Given the description of an element on the screen output the (x, y) to click on. 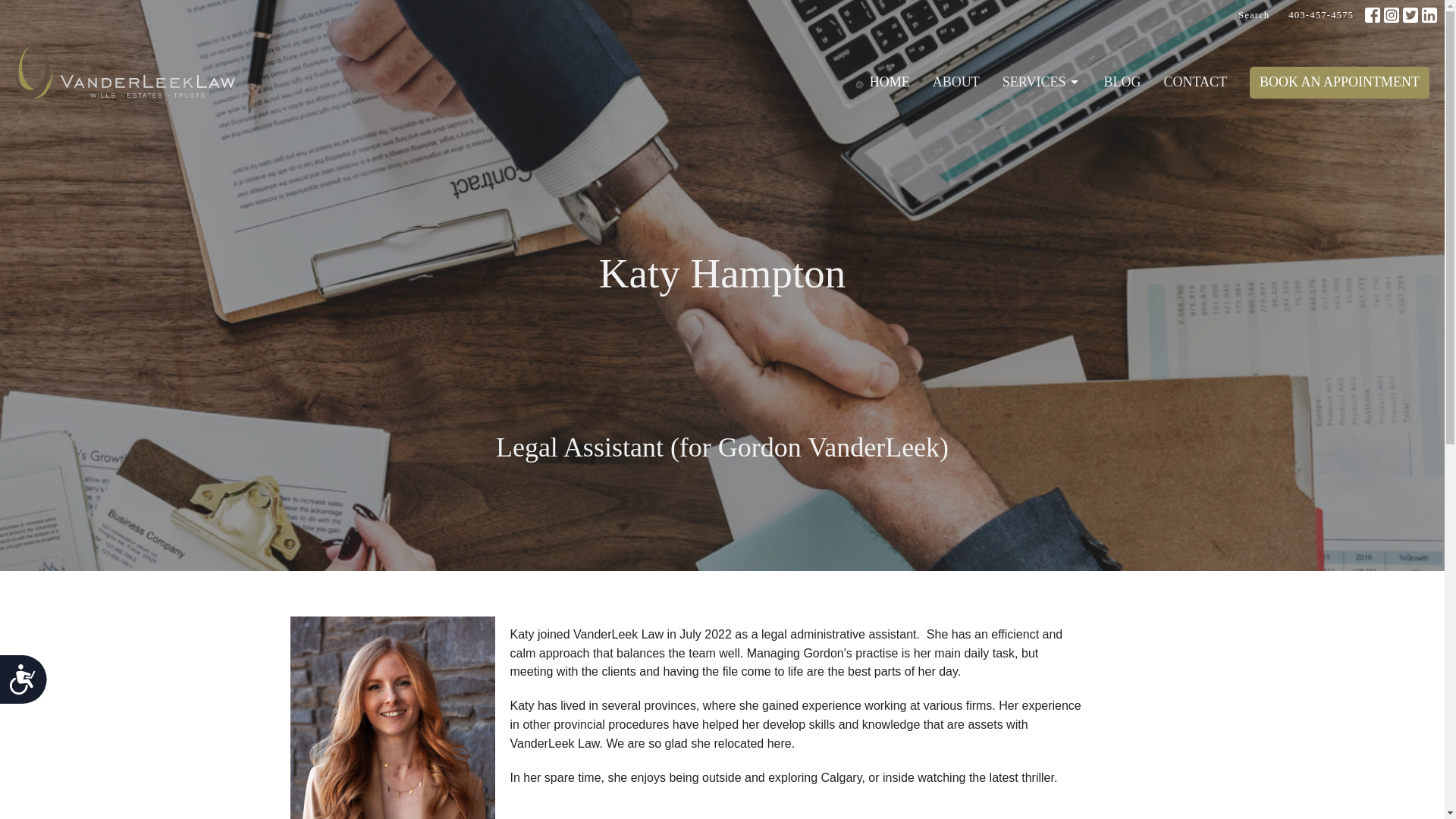
Accessibility (29, 685)
403-457-4575 (1321, 15)
ABOUT (956, 82)
BLOG (1121, 82)
HOME (889, 82)
Search (1253, 15)
CONTACT (1195, 82)
SERVICES (1042, 82)
BOOK AN APPOINTMENT (1339, 82)
